Given the description of an element on the screen output the (x, y) to click on. 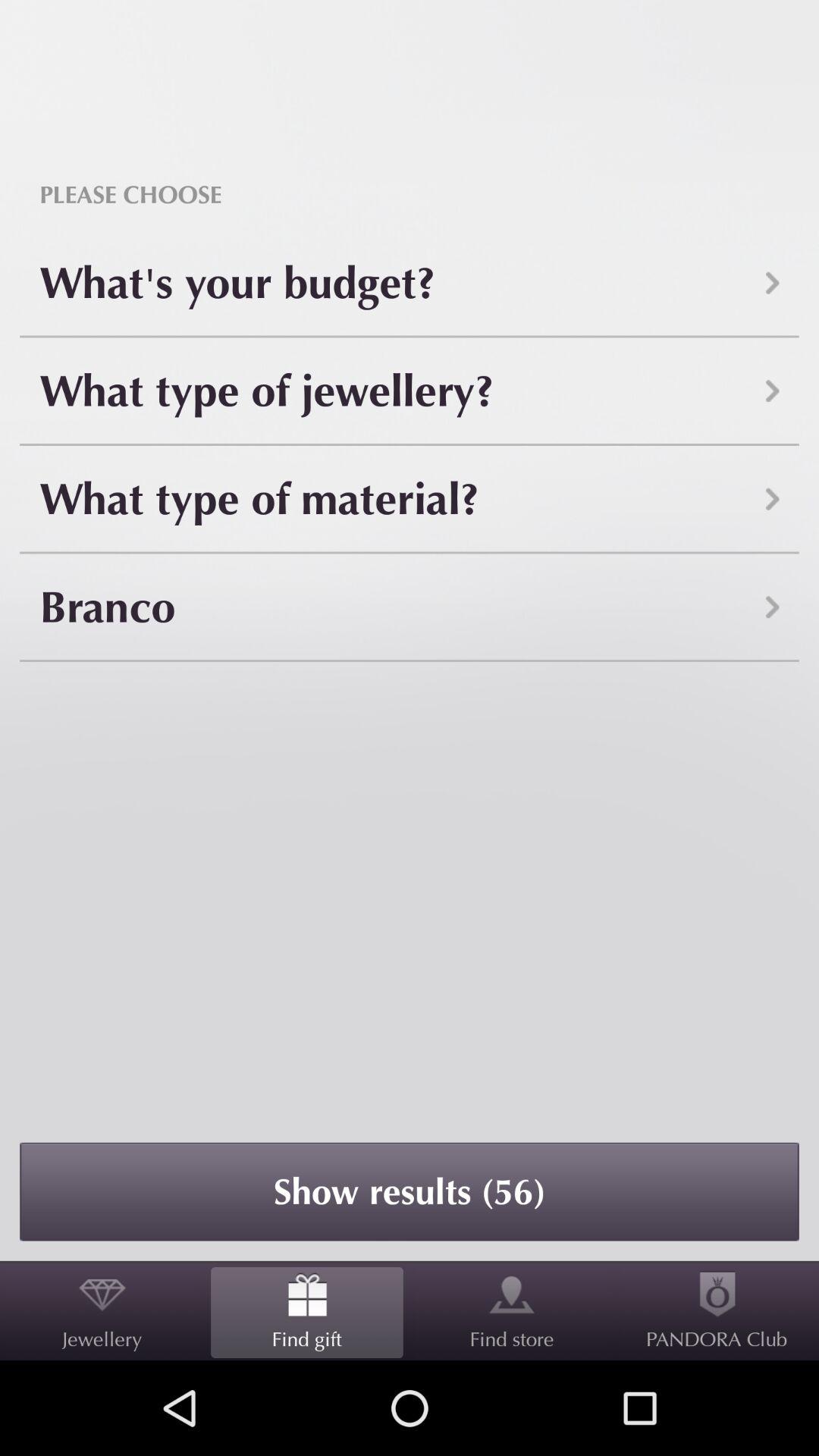
swipe to the show results (56) button (409, 1191)
